Given the description of an element on the screen output the (x, y) to click on. 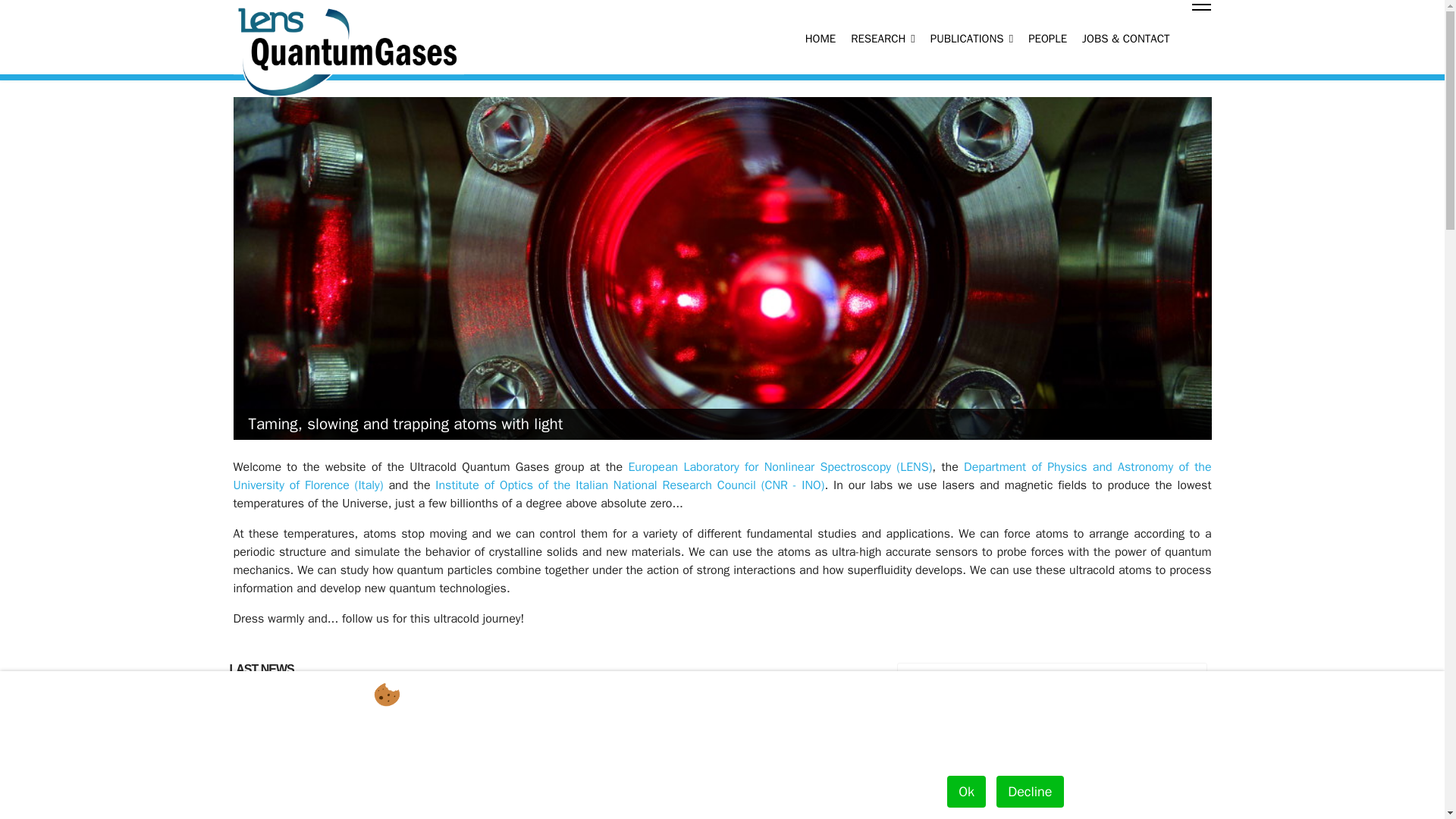
Published: 11 November 2021 (346, 738)
PUBLICATIONS (971, 38)
RESEARCH (883, 31)
